Given the description of an element on the screen output the (x, y) to click on. 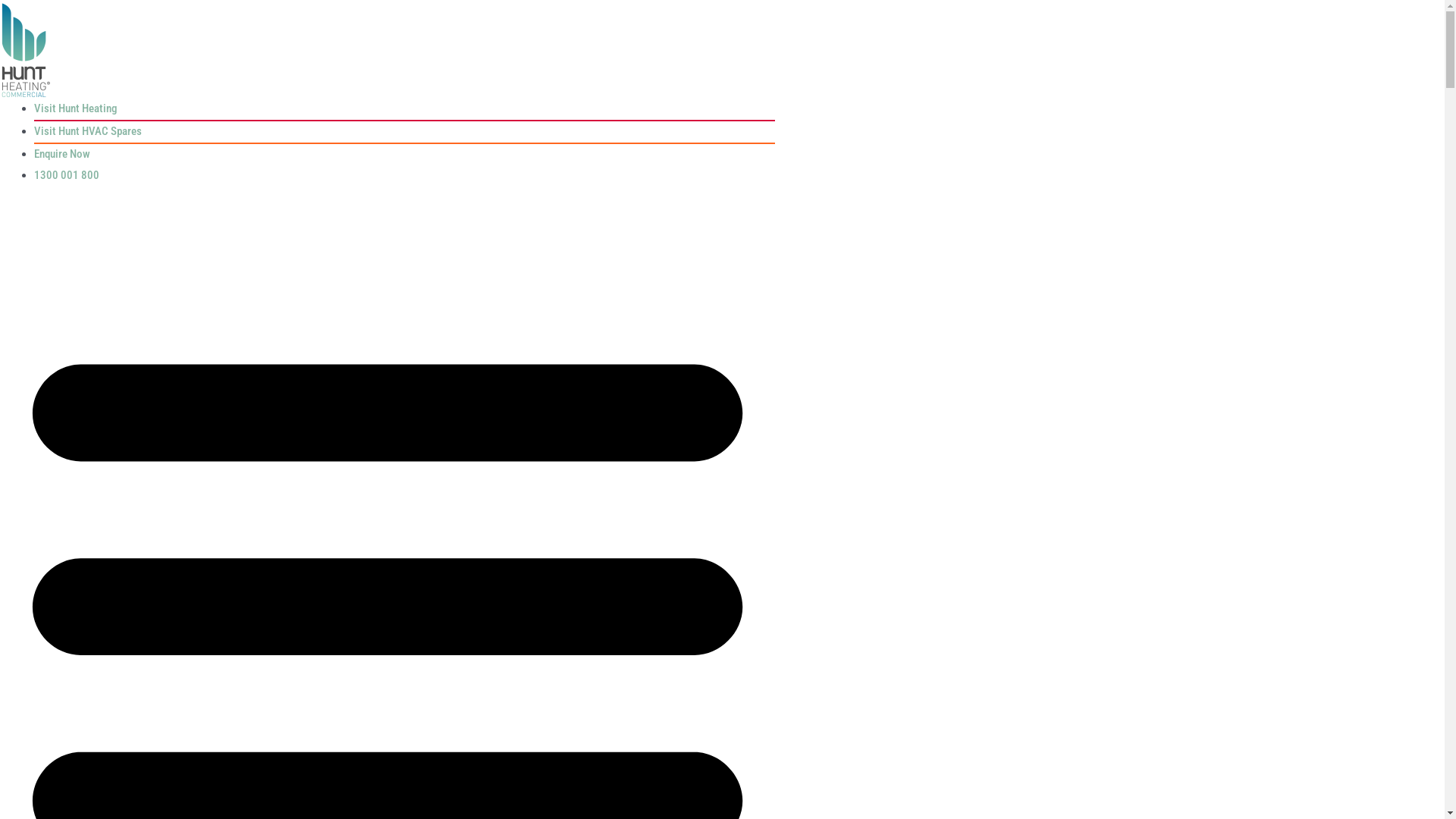
1300 001 800 Element type: text (66, 175)
Visit Hunt Heating Element type: text (75, 108)
Visit Hunt HVAC Spares Element type: text (87, 131)
Enquire Now Element type: text (62, 153)
